Given the description of an element on the screen output the (x, y) to click on. 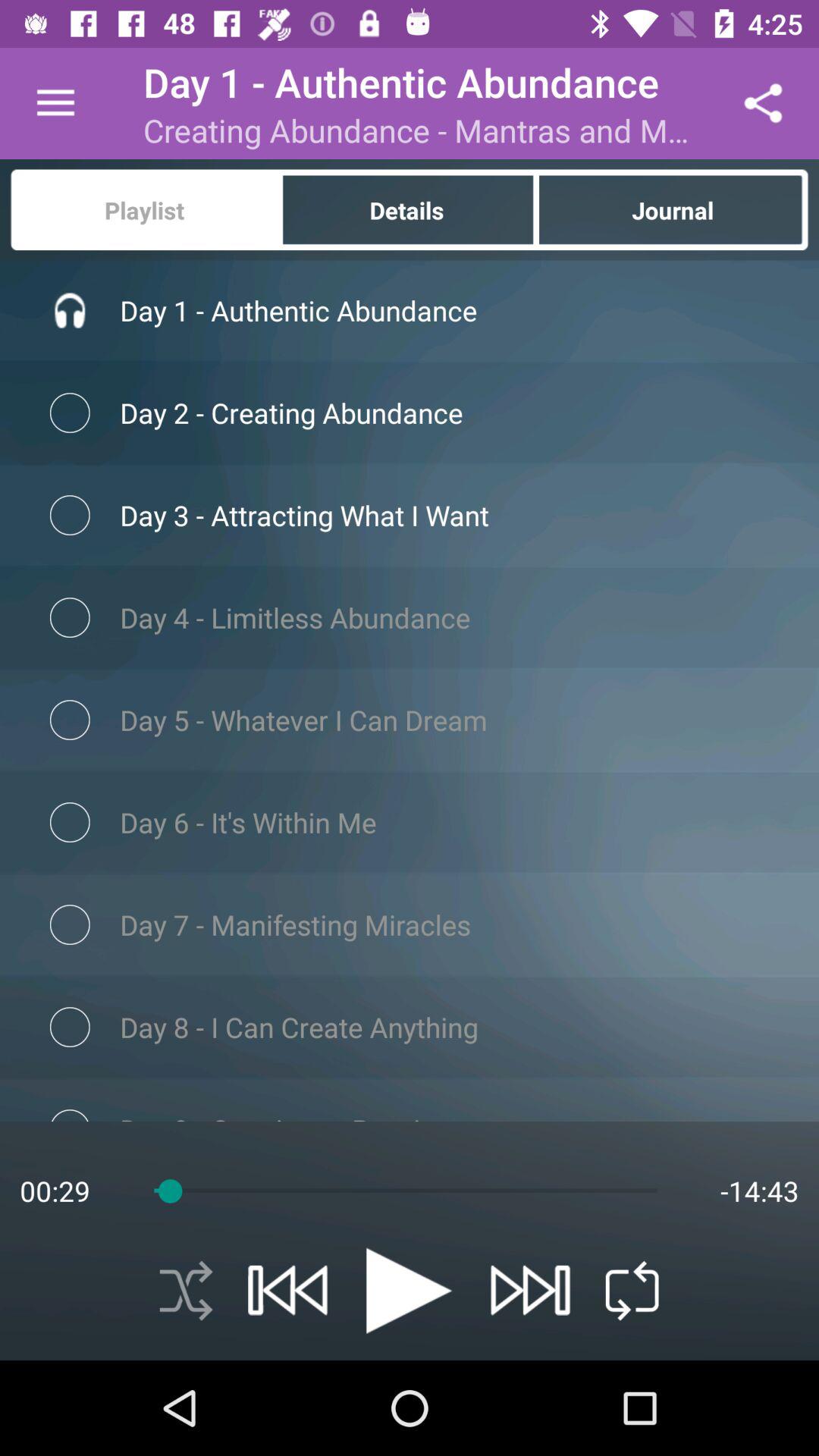
press item to the left of the day 1 authentic (55, 103)
